Given the description of an element on the screen output the (x, y) to click on. 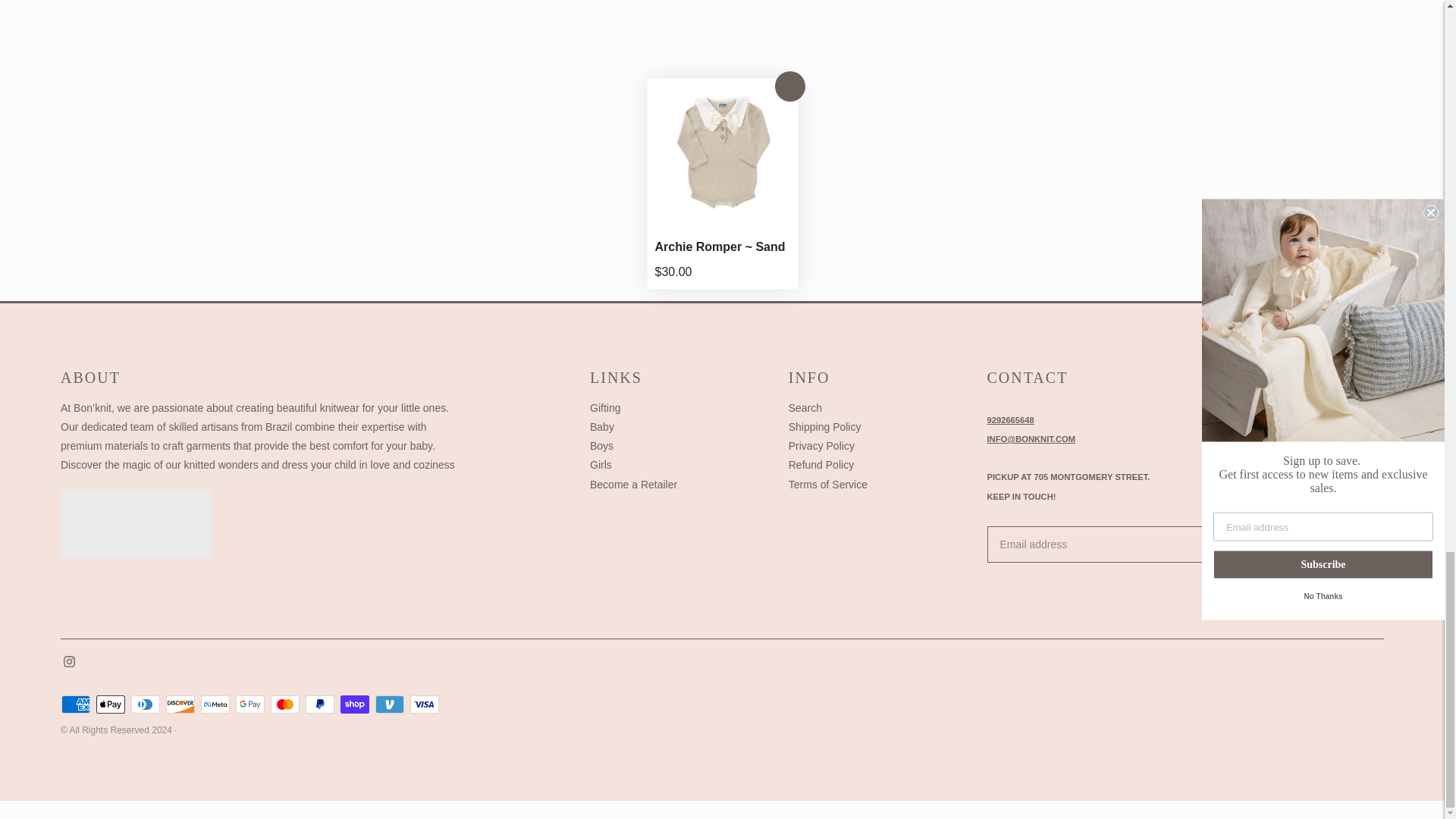
tel:9292665648 (1010, 420)
Bon Knit on Instagram (69, 663)
